Given the description of an element on the screen output the (x, y) to click on. 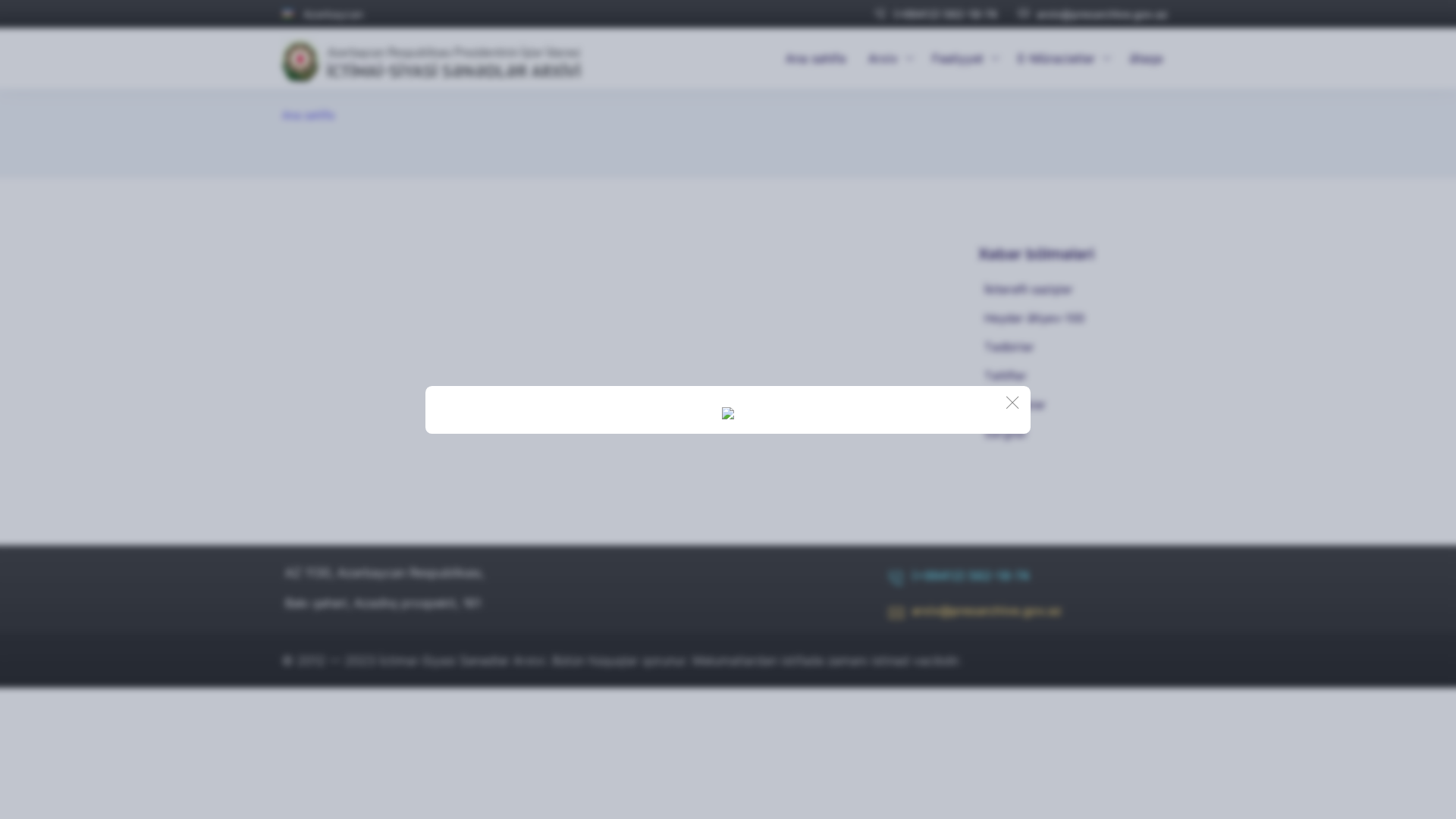
Konfranslar Element type: text (1075, 404)
arxiv@presarchive.gov.az Element type: text (1092, 14)
(+99412) 562-18-74 Element type: text (958, 580)
(+99412) 562-18-74 Element type: text (936, 14)
Arxiv Element type: text (888, 58)
arxiv@presarchive.gov.az Element type: text (974, 615)
